Given the description of an element on the screen output the (x, y) to click on. 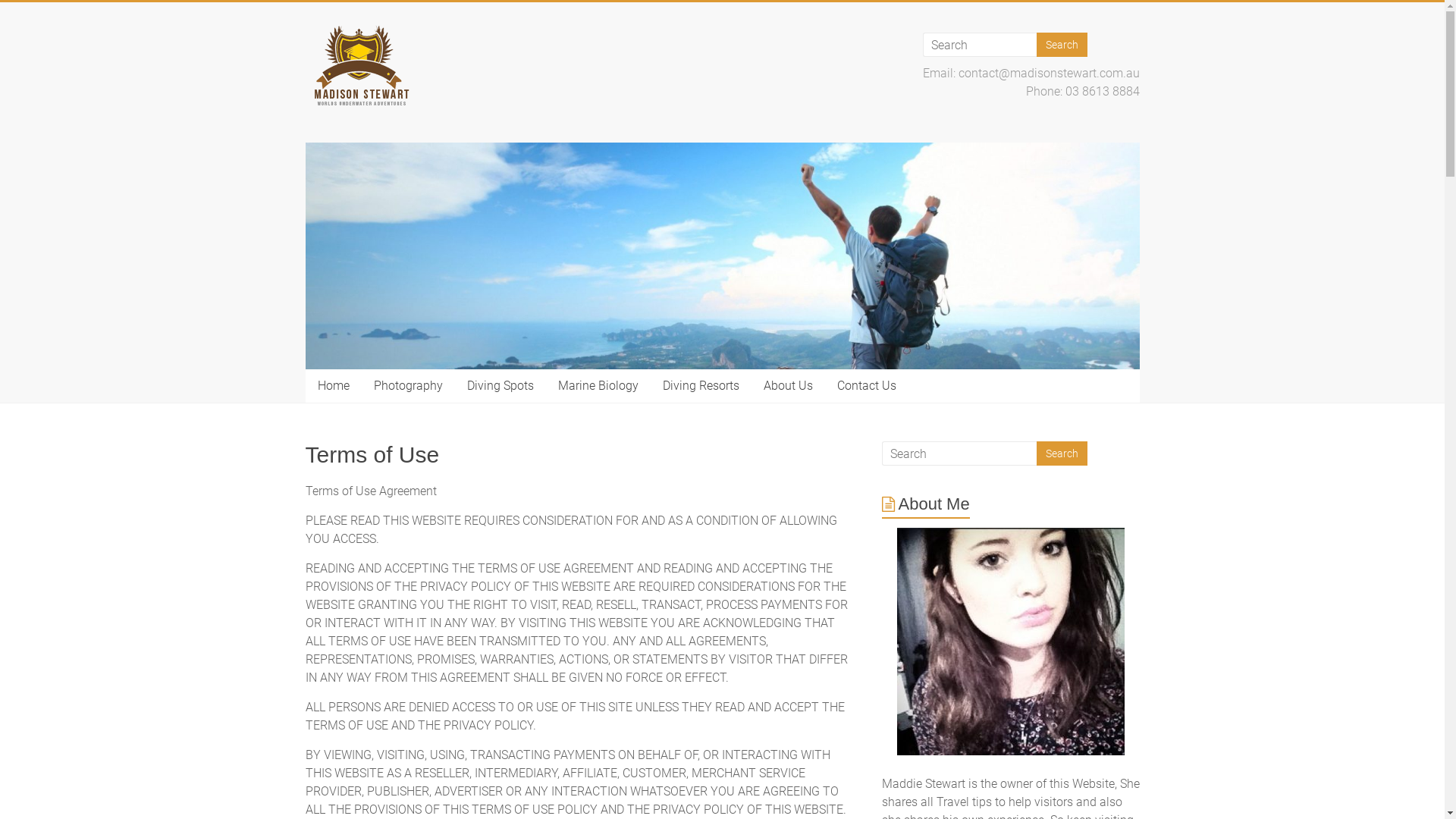
Search Element type: text (1060, 44)
Search Element type: text (1060, 453)
Diving Spots Element type: text (500, 385)
About Us Element type: text (787, 385)
Contact Us Element type: text (866, 385)
Home Element type: text (332, 385)
Photography Element type: text (407, 385)
Marine Biology Element type: text (598, 385)
Diving Resorts Element type: text (700, 385)
